Given the description of an element on the screen output the (x, y) to click on. 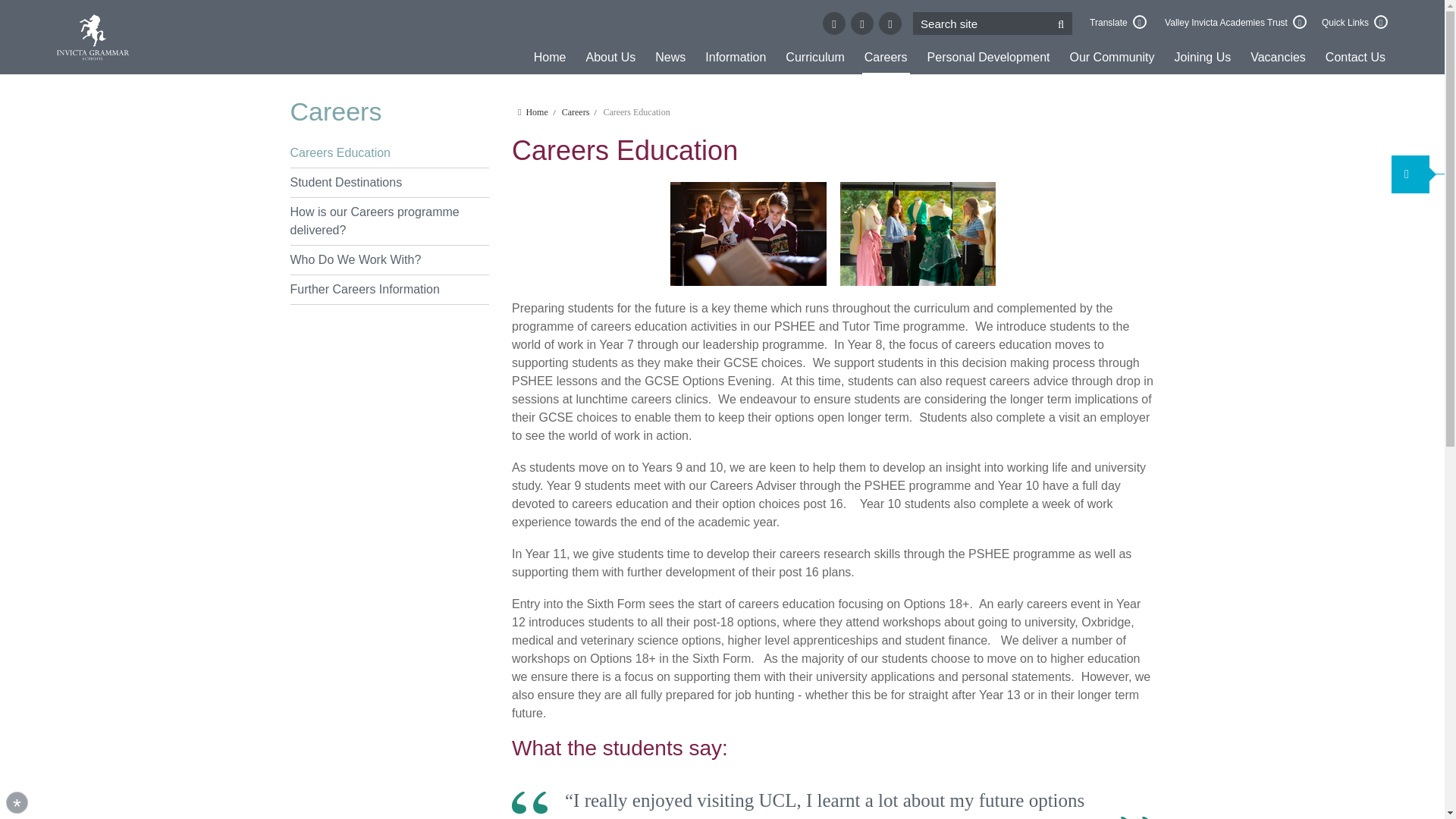
Facebook (861, 23)
Twitter (833, 23)
Instagram (890, 23)
Quick Links (1354, 23)
Valley Invicta Academies Trust (1235, 23)
